Given the description of an element on the screen output the (x, y) to click on. 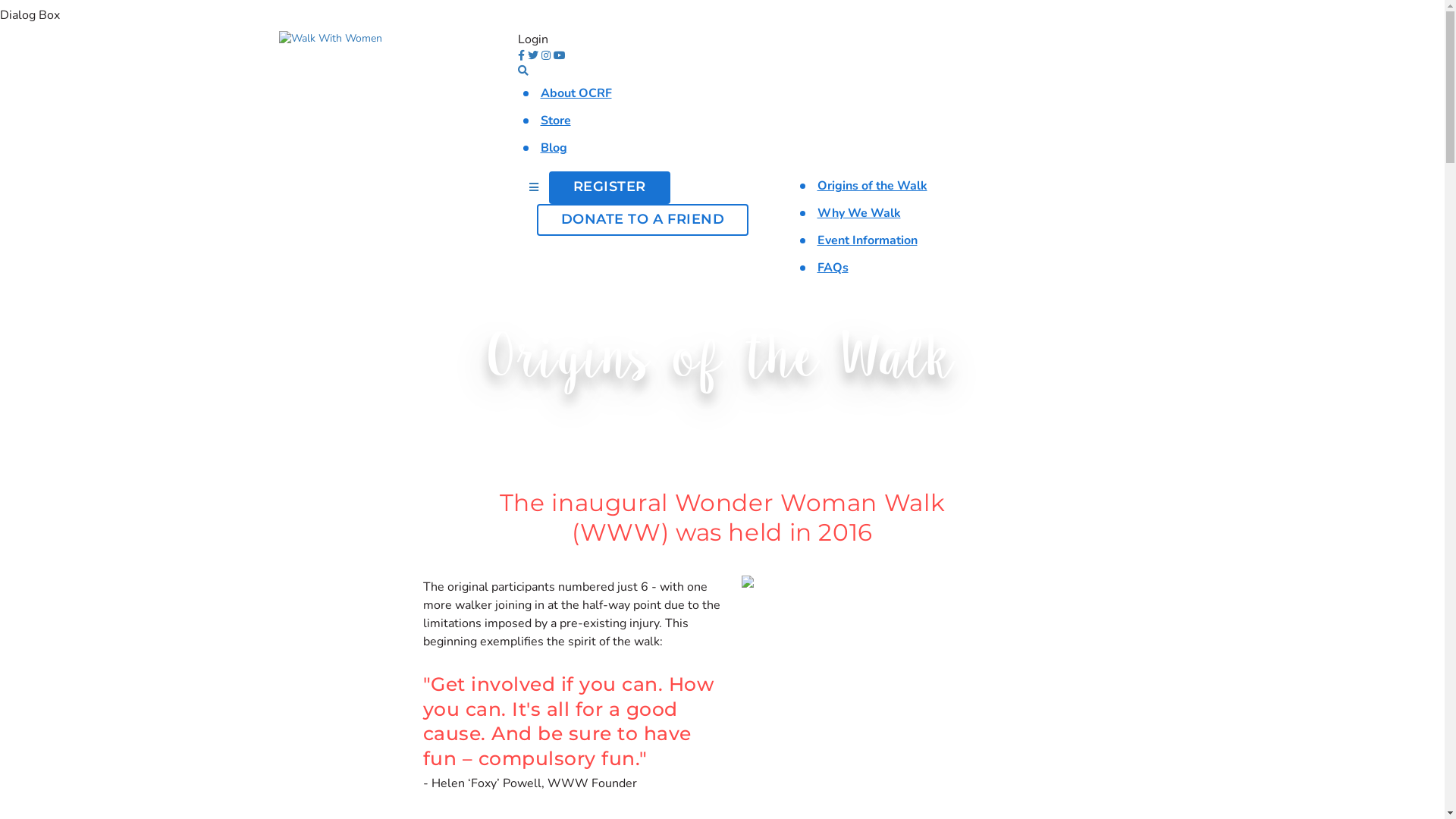
Blog Element type: text (552, 147)
FAQs Element type: text (832, 267)
DONATE TO A FRIEND Element type: text (642, 219)
Login Element type: text (532, 39)
Origins of the Walk Element type: text (872, 185)
About OCRF Element type: text (575, 92)
Why We Walk Element type: text (858, 212)
Event Information Element type: text (867, 240)
Store Element type: text (554, 120)
REGISTER Element type: text (609, 187)
